Given the description of an element on the screen output the (x, y) to click on. 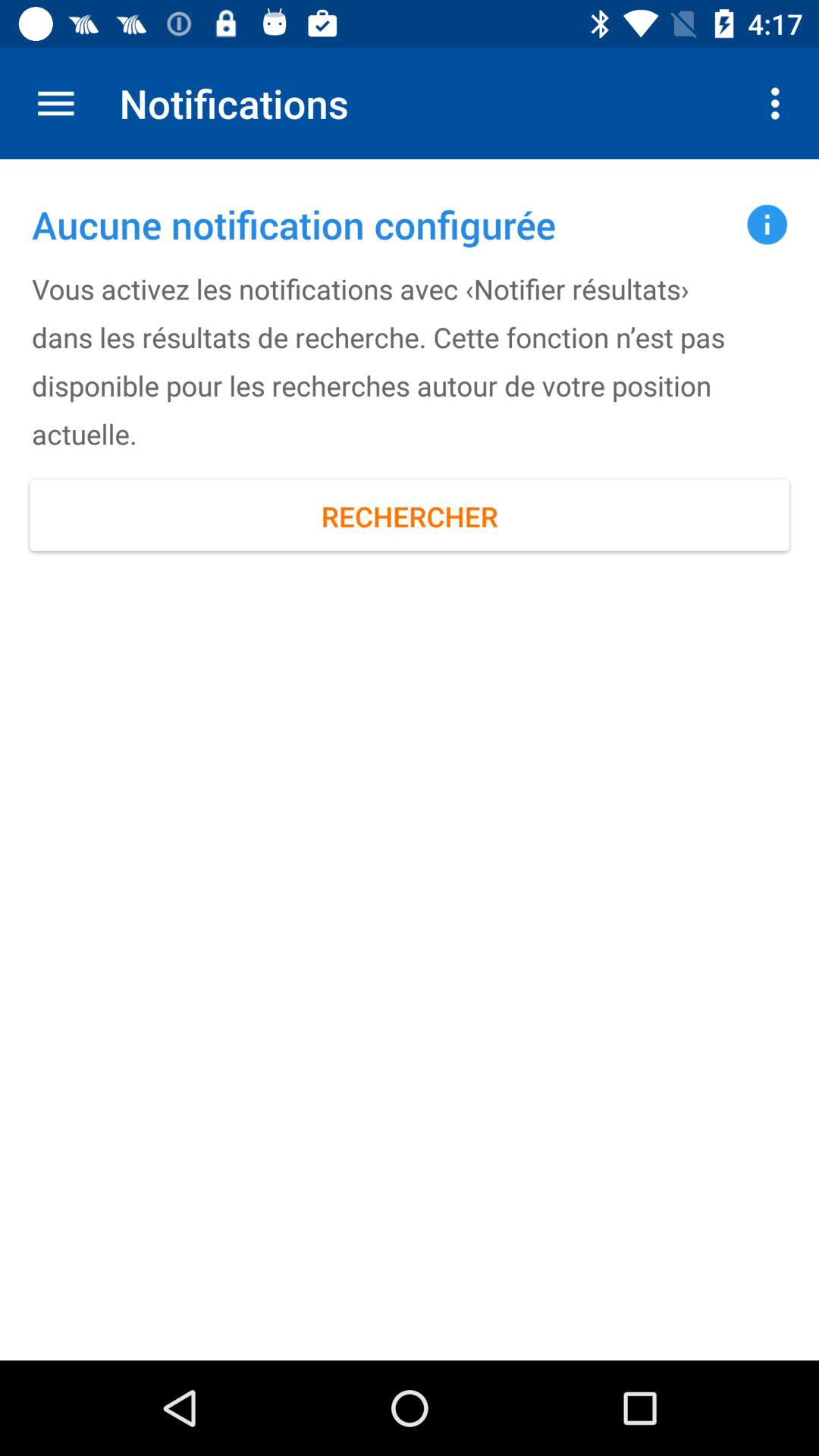
turn on icon below the vous activez les (409, 516)
